Given the description of an element on the screen output the (x, y) to click on. 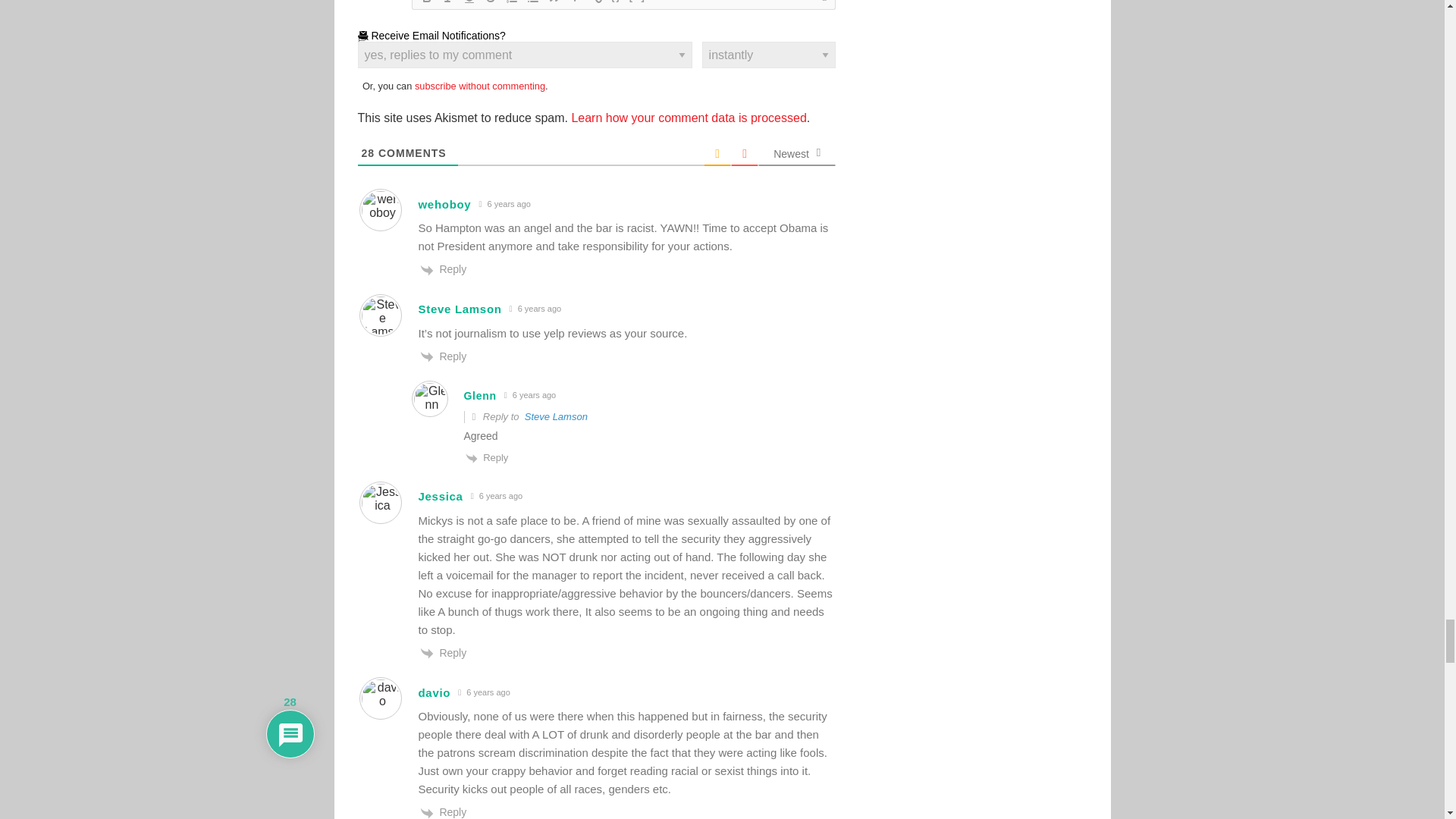
Italic (447, 3)
Underline (468, 3)
Bold (425, 3)
Strike (489, 3)
